Given the description of an element on the screen output the (x, y) to click on. 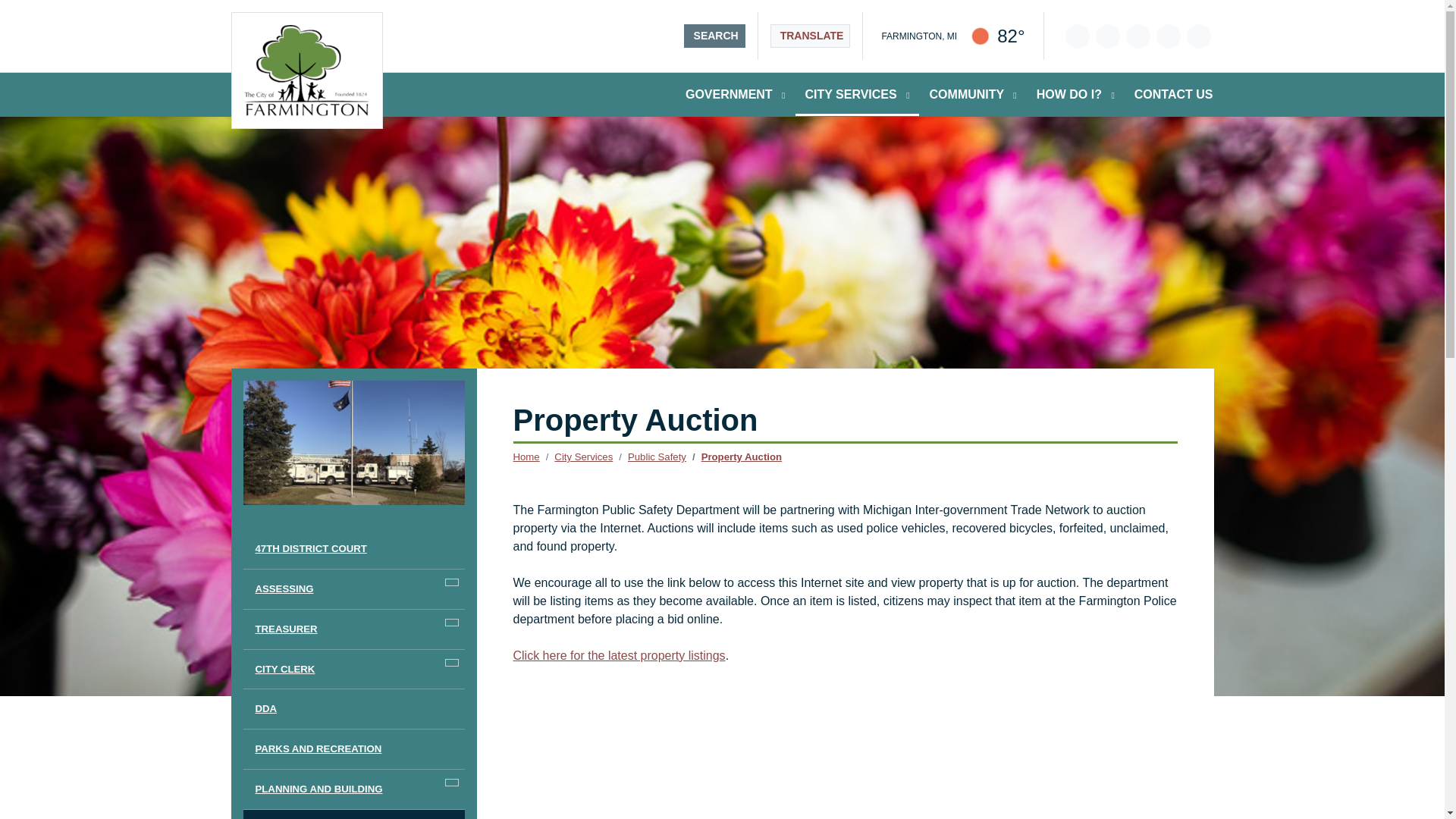
Nixle (1167, 36)
YouTube (1106, 36)
TRANSLATE (810, 35)
CITY SERVICES (856, 94)
Facebook (1076, 36)
Instagram (1137, 36)
GOVERNMENT (734, 94)
Farmington, MI: clear, 82 deg. (952, 35)
SEARCH (714, 35)
Nextdoor (1197, 36)
